Given the description of an element on the screen output the (x, y) to click on. 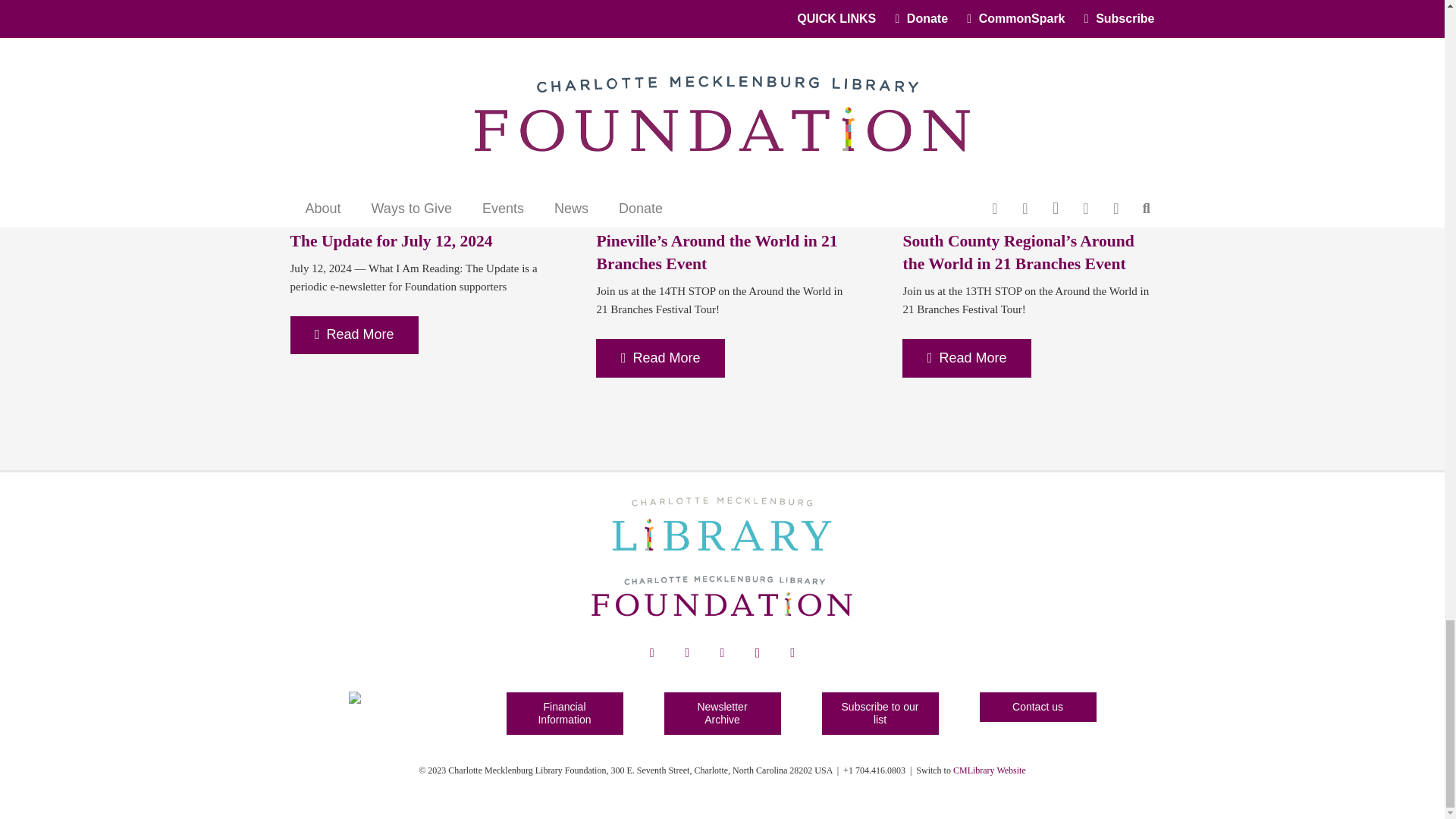
LinkedIn (686, 653)
Twitter (721, 653)
Facebook (651, 653)
